Given the description of an element on the screen output the (x, y) to click on. 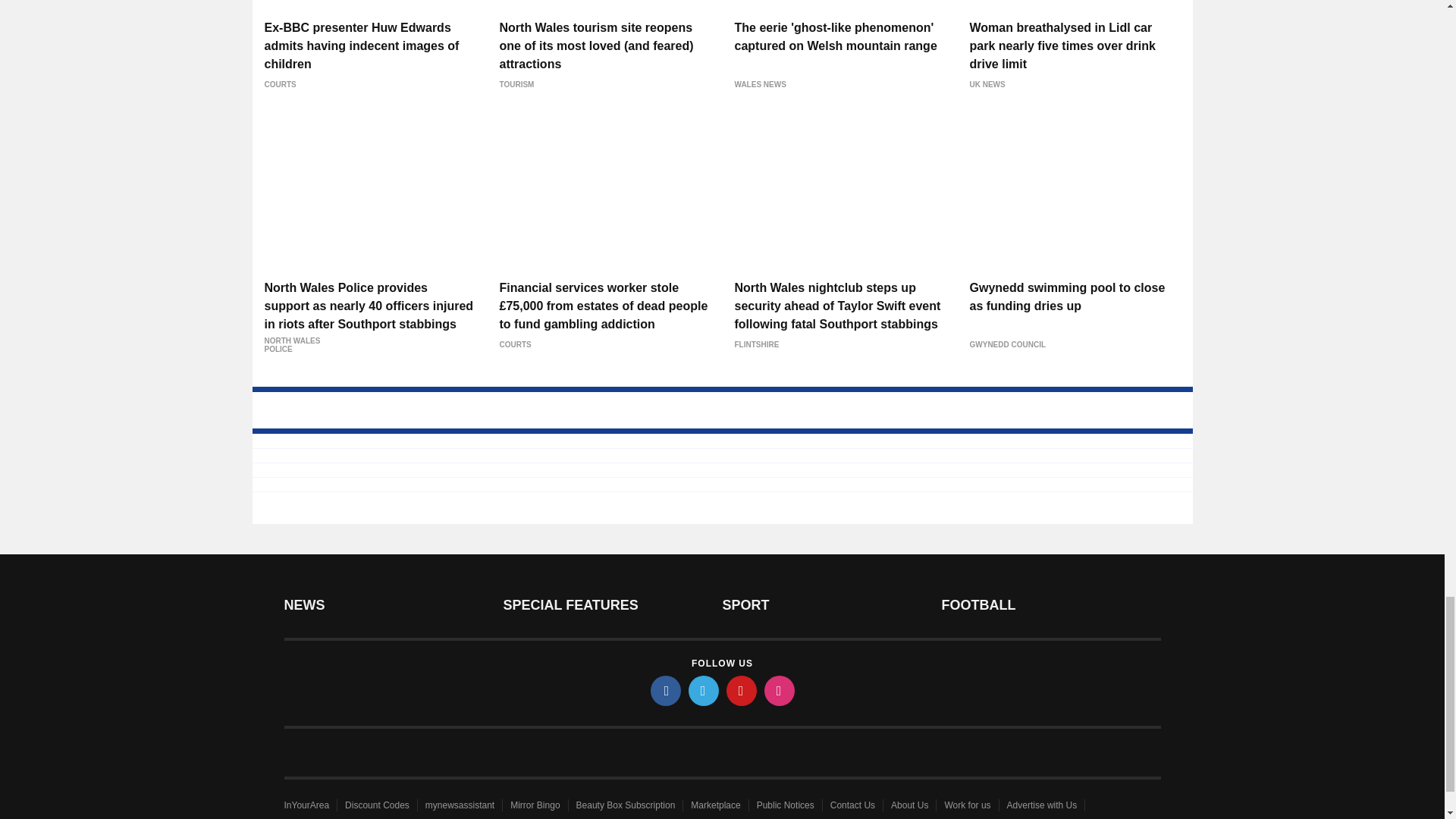
pinterest (741, 690)
instagram (779, 690)
facebook (665, 690)
twitter (703, 690)
